Given the description of an element on the screen output the (x, y) to click on. 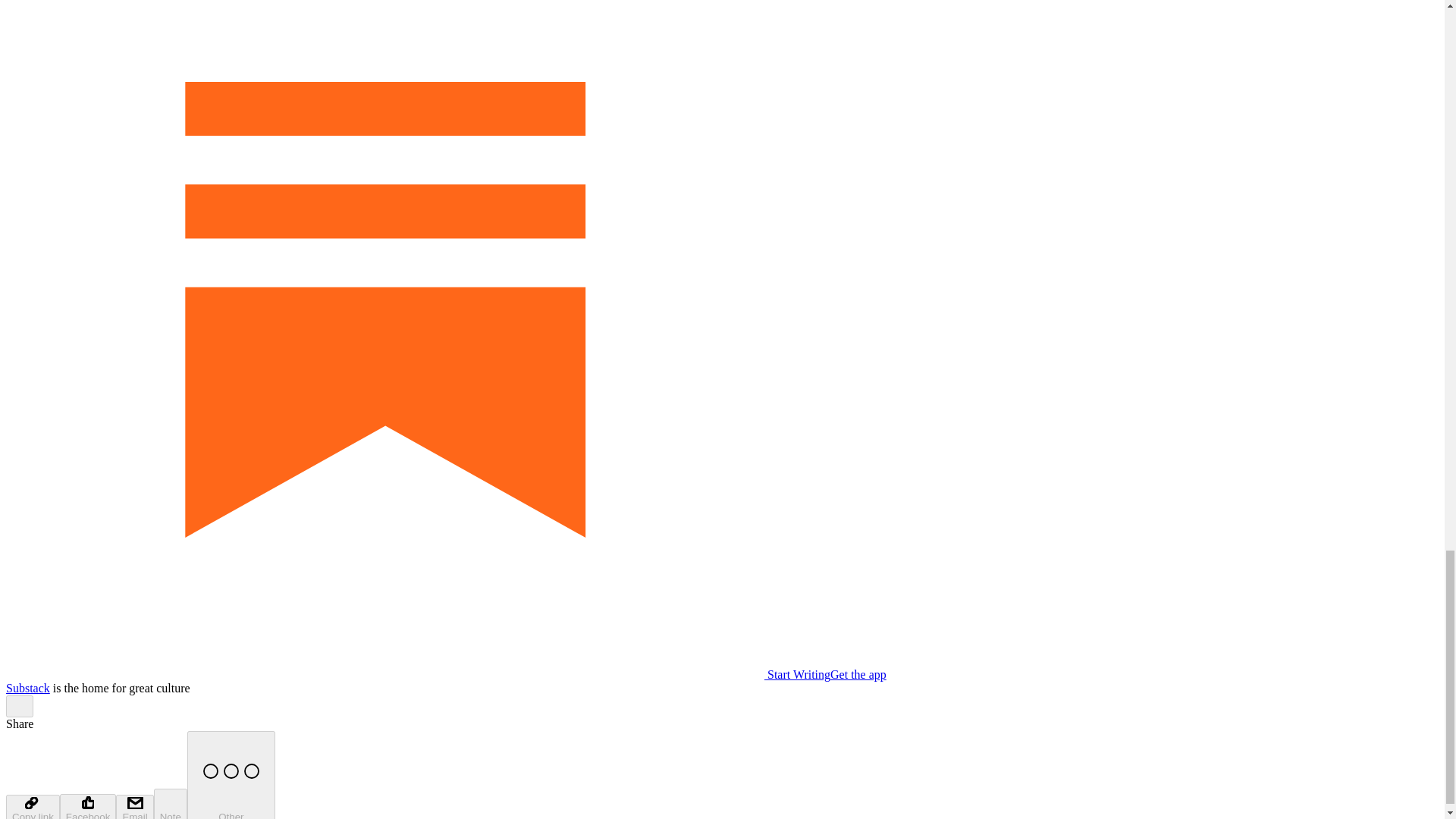
Start Writing (417, 674)
Substack (27, 687)
Get the app (857, 674)
